Given the description of an element on the screen output the (x, y) to click on. 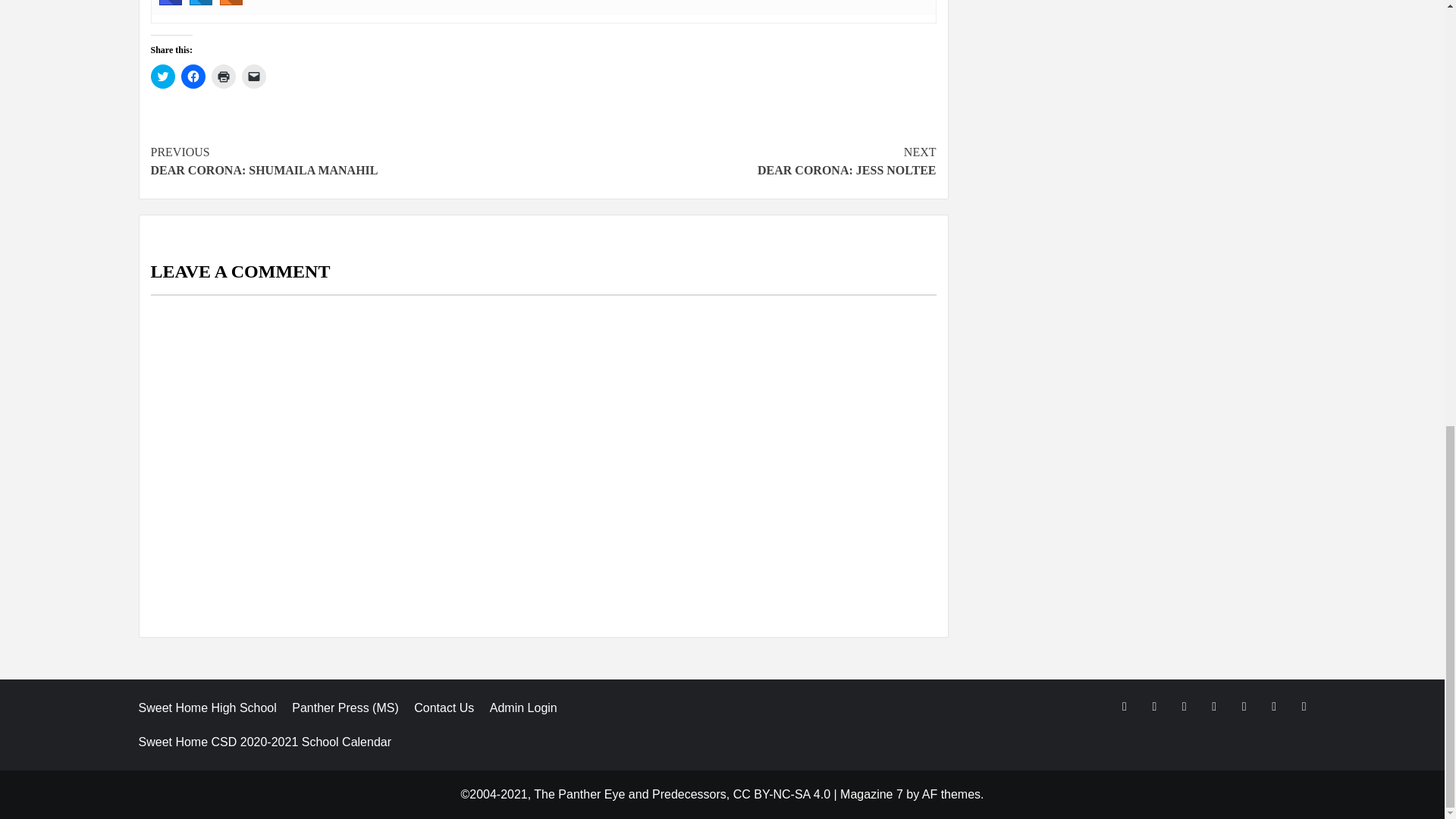
Click to print (222, 76)
Instagram (170, 2)
Click to email a link to a friend (252, 76)
Twitter (200, 2)
Click to share on Twitter (161, 76)
User email (231, 2)
Click to share on Facebook (192, 76)
